Given the description of an element on the screen output the (x, y) to click on. 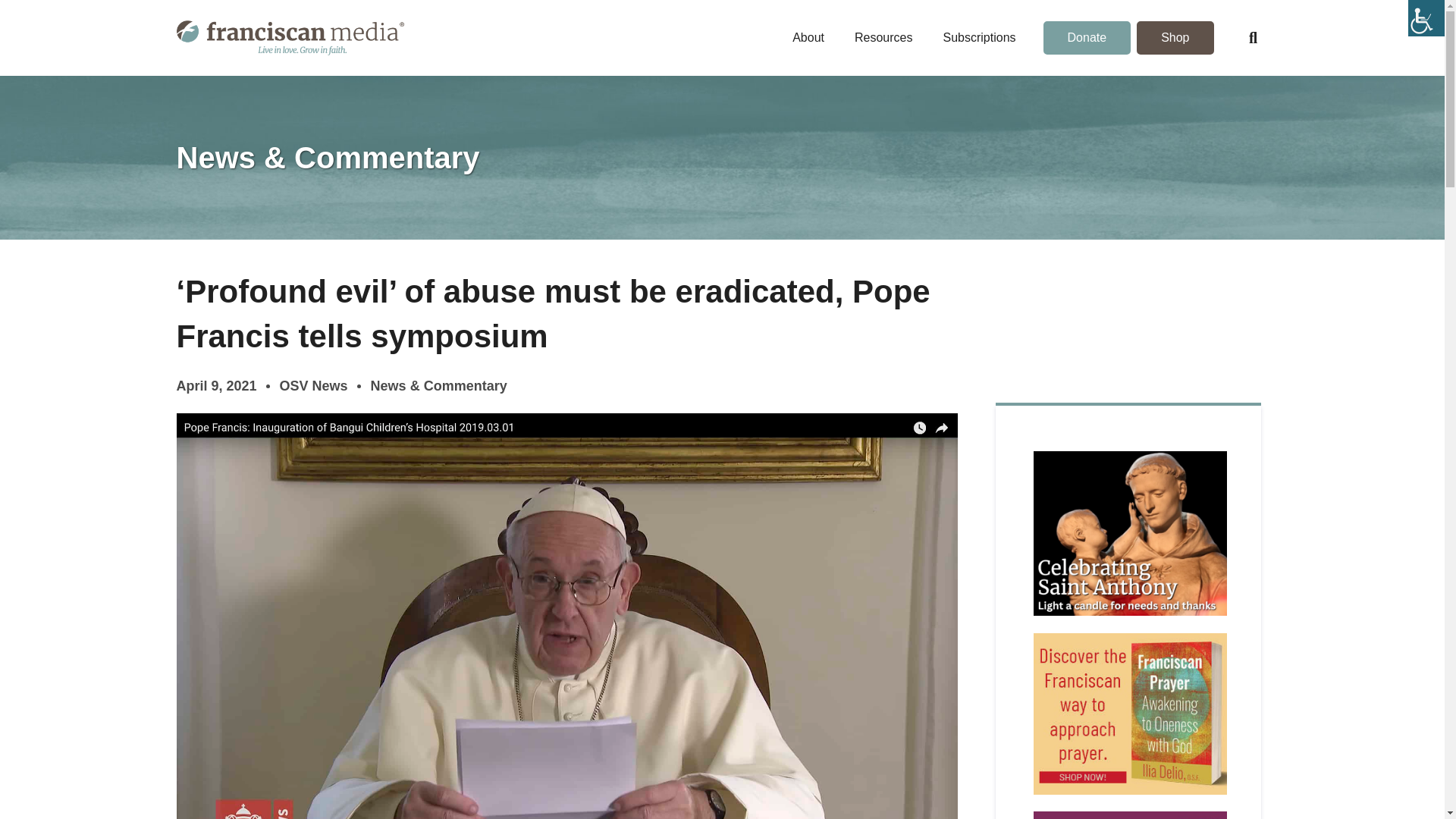
Donate (1087, 37)
Shop (1174, 37)
Resources (883, 38)
Subscriptions (978, 38)
